Given the description of an element on the screen output the (x, y) to click on. 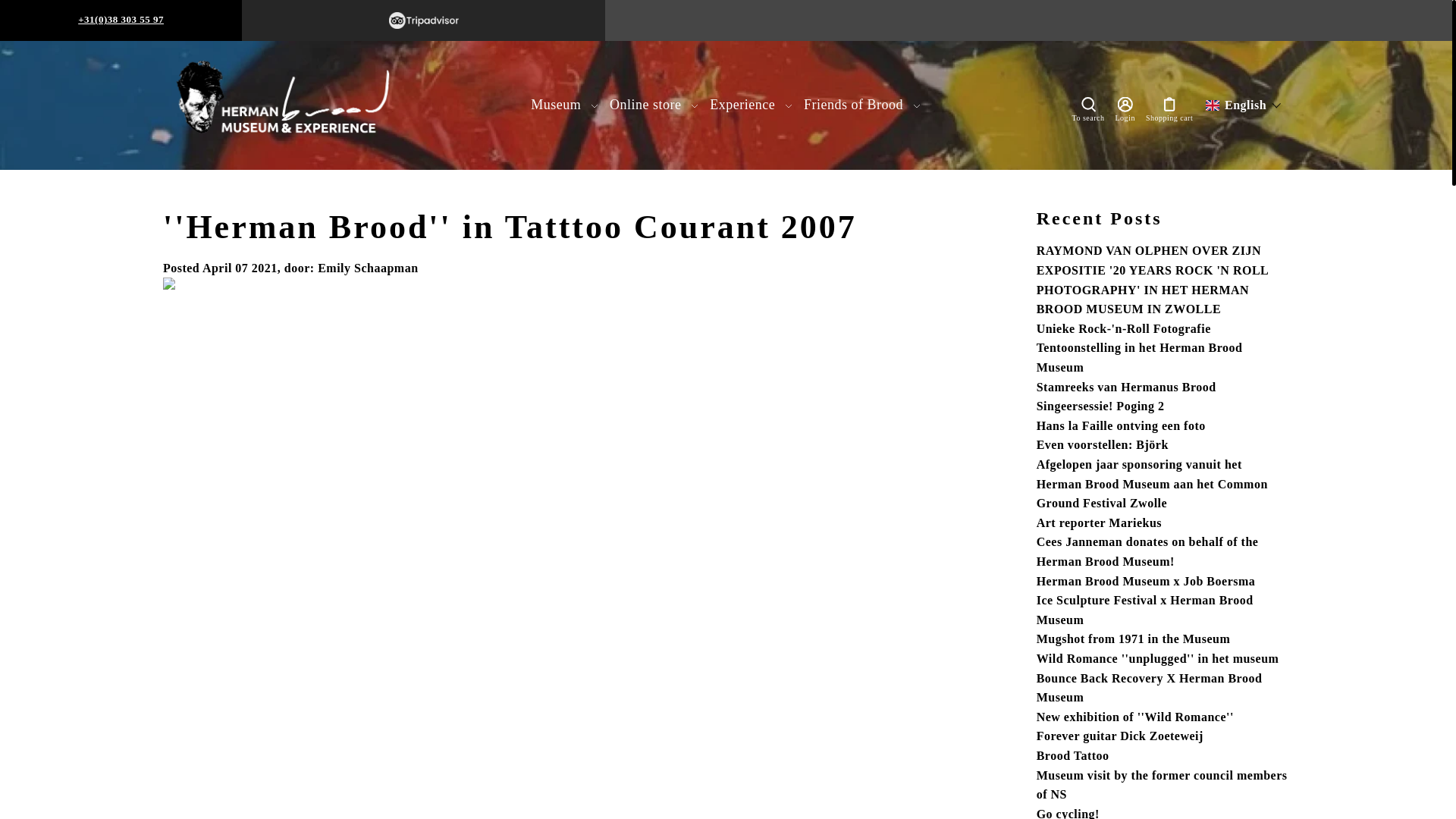
Singeersessie! Poging 2 (1100, 405)
Experience (750, 105)
Ice Sculpture Festival x Herman Brood Museum  (1144, 609)
Art reporter Mariekus  (1098, 522)
Forever guitar Dick Zoeteweij (1120, 735)
Stamreeks van Hermanus Brood (1125, 386)
Bounce Back Recovery X Herman Brood Museum (1149, 687)
Brood Tattoo (1072, 755)
Hans la Faille ontving een foto (1120, 425)
Cees Janneman donates on behalf of the Herman Brood Museum! (1147, 551)
Online store (654, 105)
Mugshot from 1971 in the Museum (1133, 638)
Herman Brood Museum x Job Boersma (1145, 581)
